Given the description of an element on the screen output the (x, y) to click on. 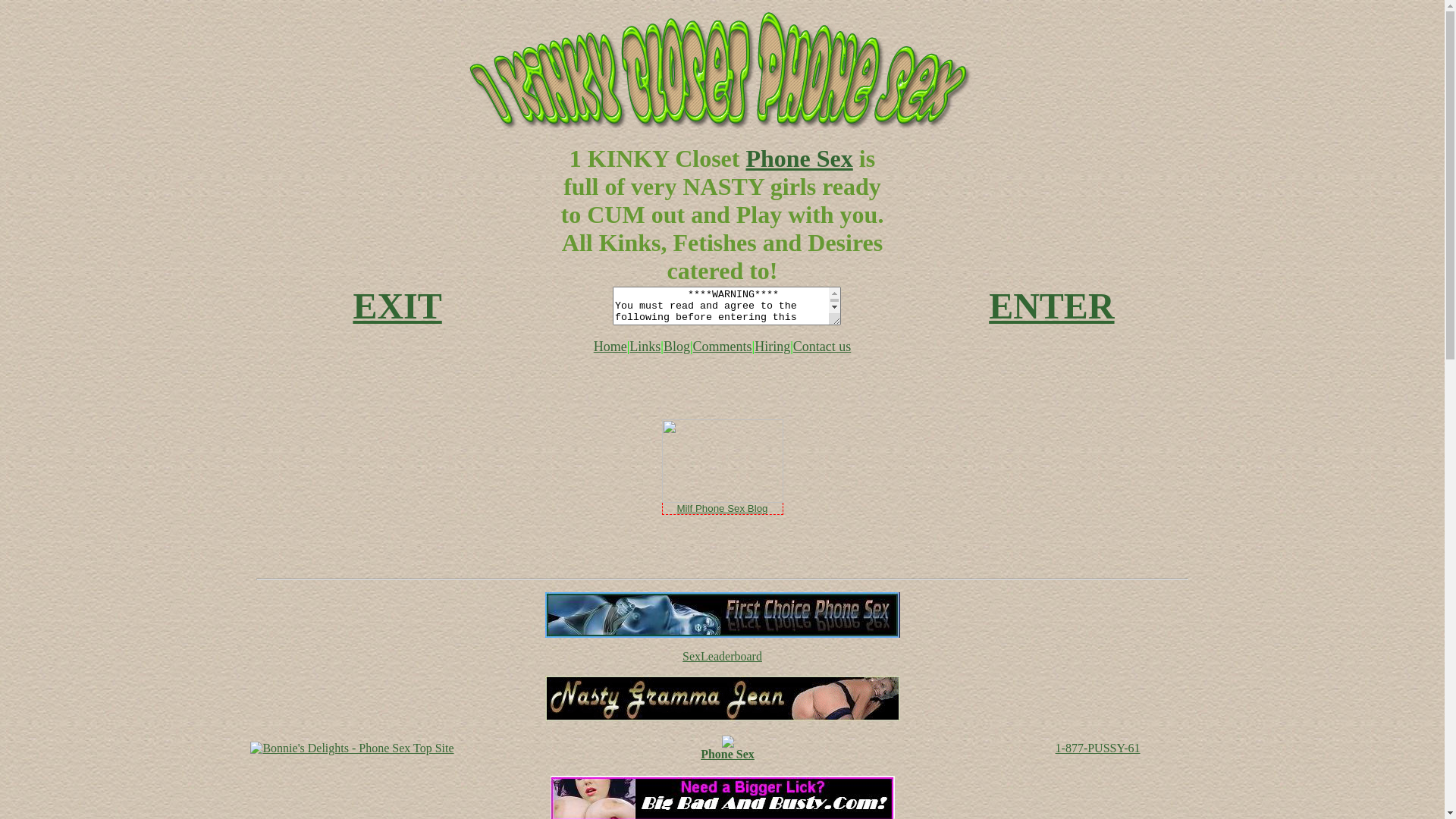
1-877-PUSSY-61 Element type: text (1097, 747)
Blog Element type: text (676, 346)
ENTER Element type: text (1050, 305)
Home Element type: text (610, 346)
SexLeaderboard Element type: text (722, 655)
Contact us Element type: text (822, 346)
Links Element type: text (644, 346)
Milf Phone Sex Blog Element type: text (721, 508)
Phone Sex Element type: text (727, 748)
Hiring Element type: text (772, 346)
EXIT Element type: text (396, 305)
Phone Sex Element type: text (798, 158)
Comments Element type: text (722, 346)
